Given the description of an element on the screen output the (x, y) to click on. 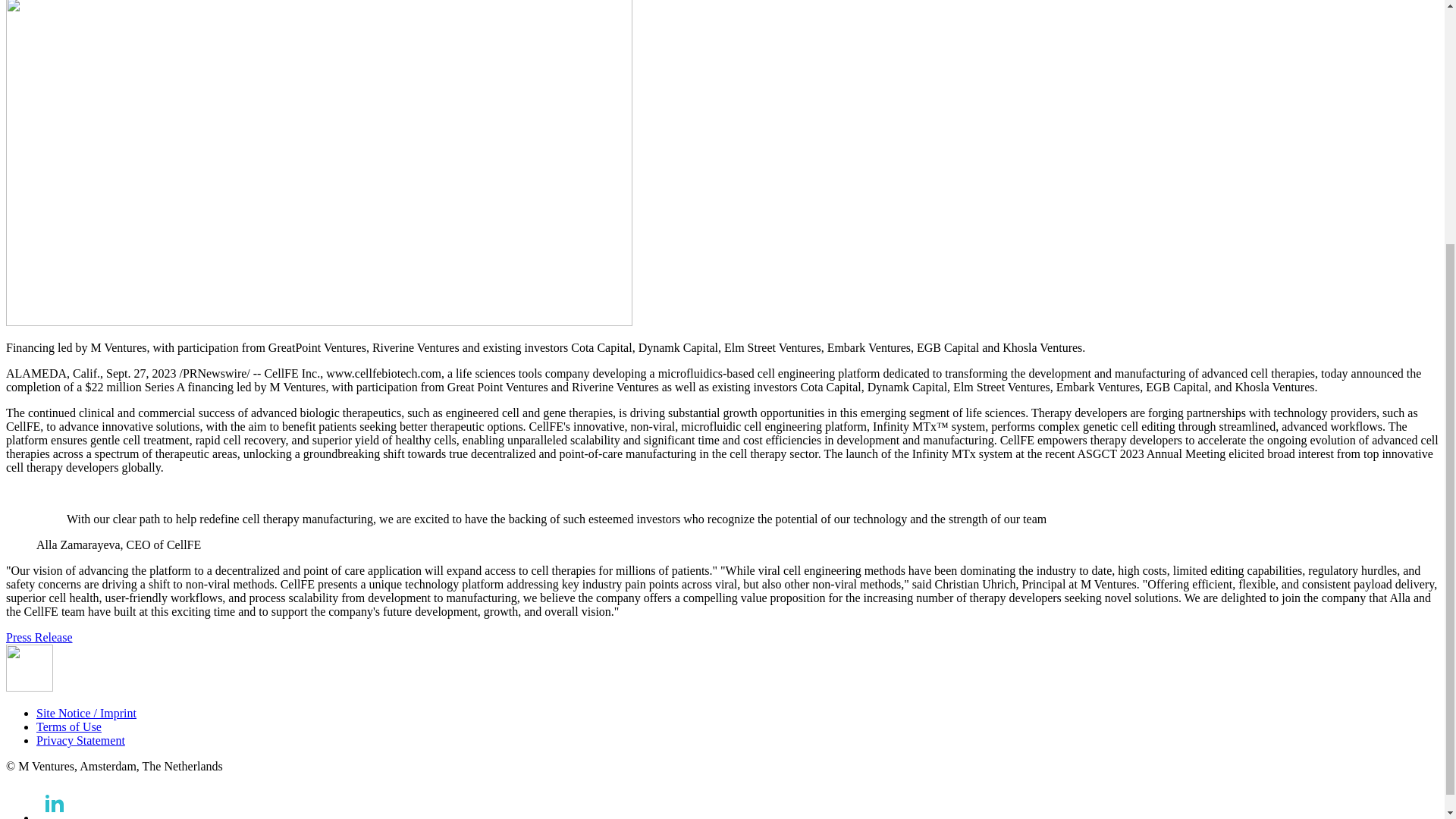
Terms of Use (68, 726)
Privacy Statement (80, 739)
Press Release (38, 636)
